Given the description of an element on the screen output the (x, y) to click on. 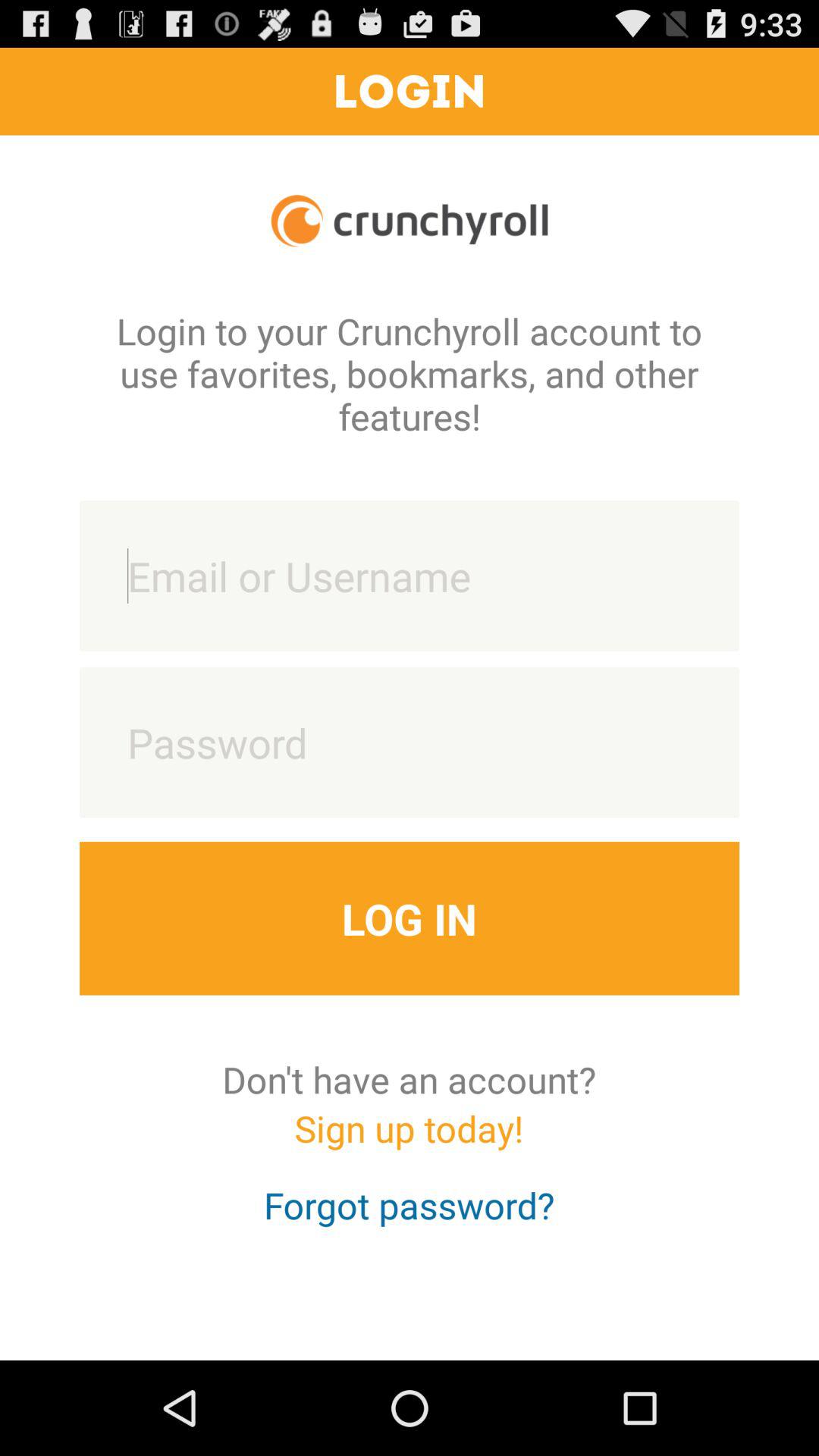
open the item above the forgot password? item (408, 1141)
